Given the description of an element on the screen output the (x, y) to click on. 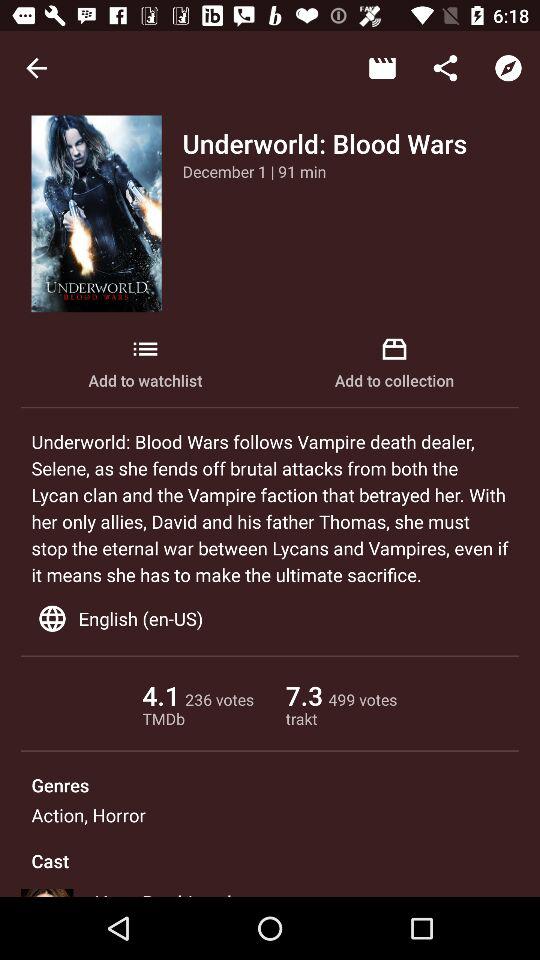
click icon above the add to watchlist (254, 171)
